Given the description of an element on the screen output the (x, y) to click on. 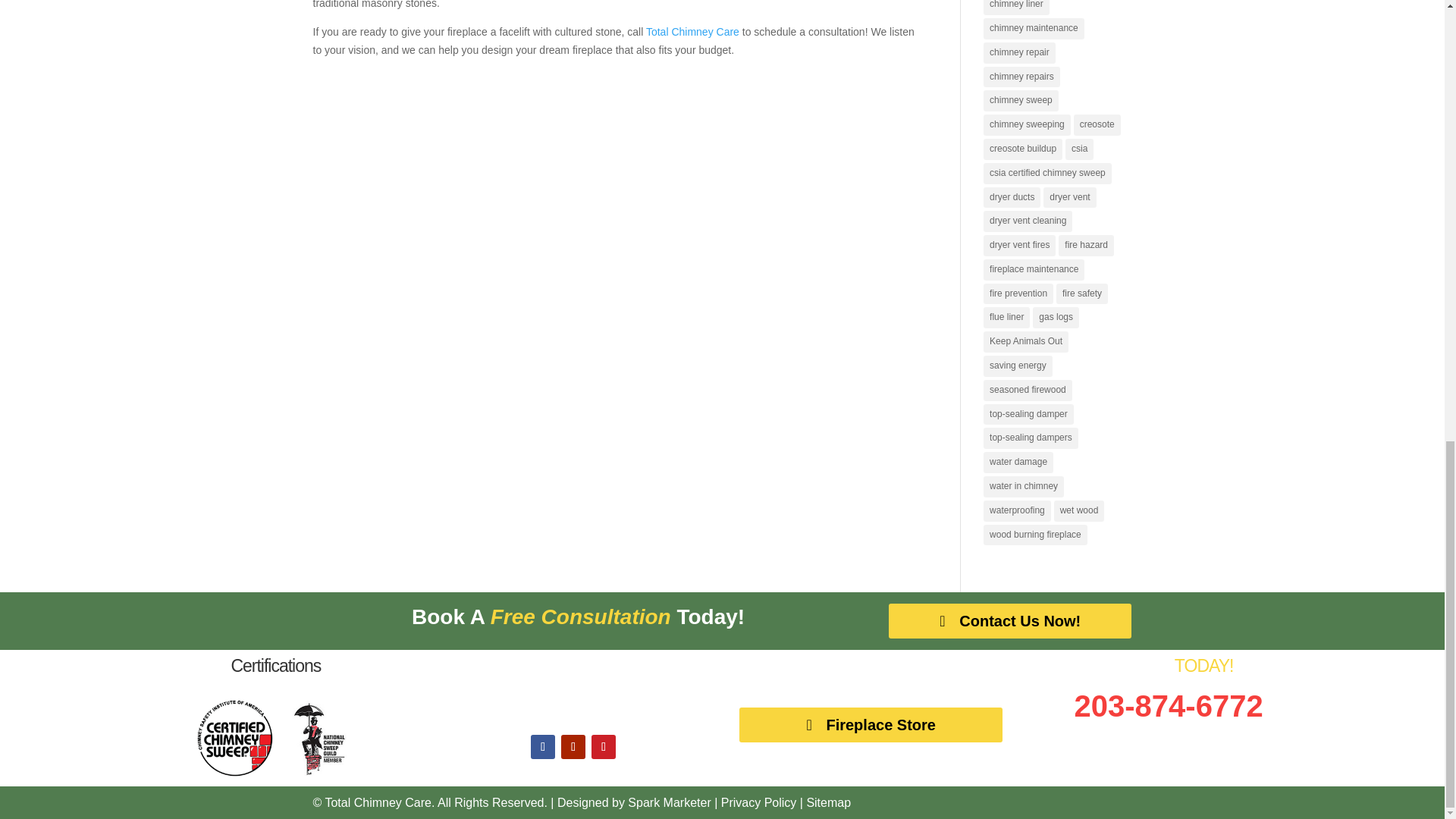
Follow on Pinterest (603, 746)
Follow on Facebook (542, 746)
Call Us Today (1168, 705)
The systems and people to help local service businesses win. (668, 802)
NCSG (317, 772)
CSIA (234, 772)
Follow on Youtube (572, 746)
